Given the description of an element on the screen output the (x, y) to click on. 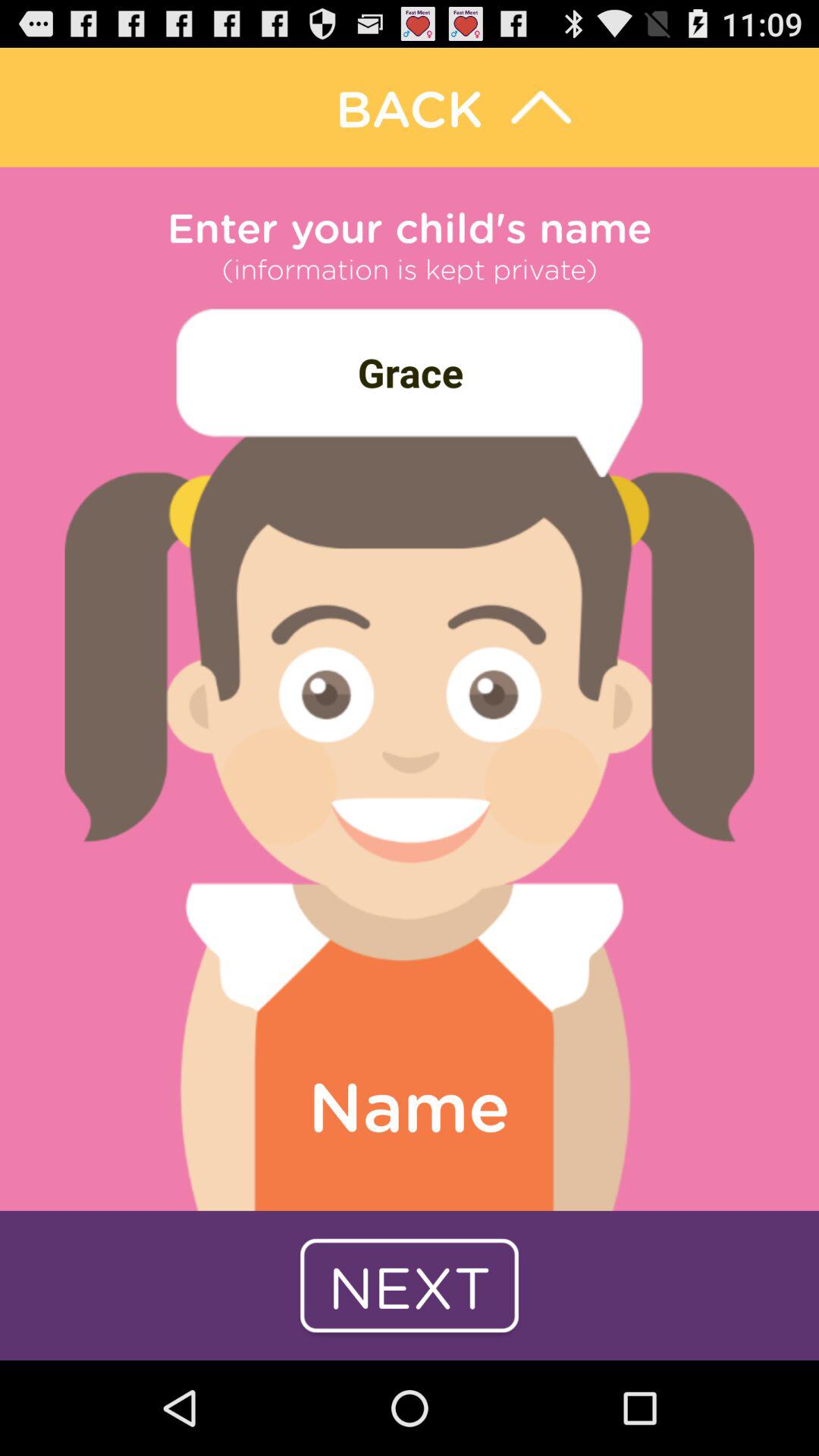
backward (409, 107)
